Given the description of an element on the screen output the (x, y) to click on. 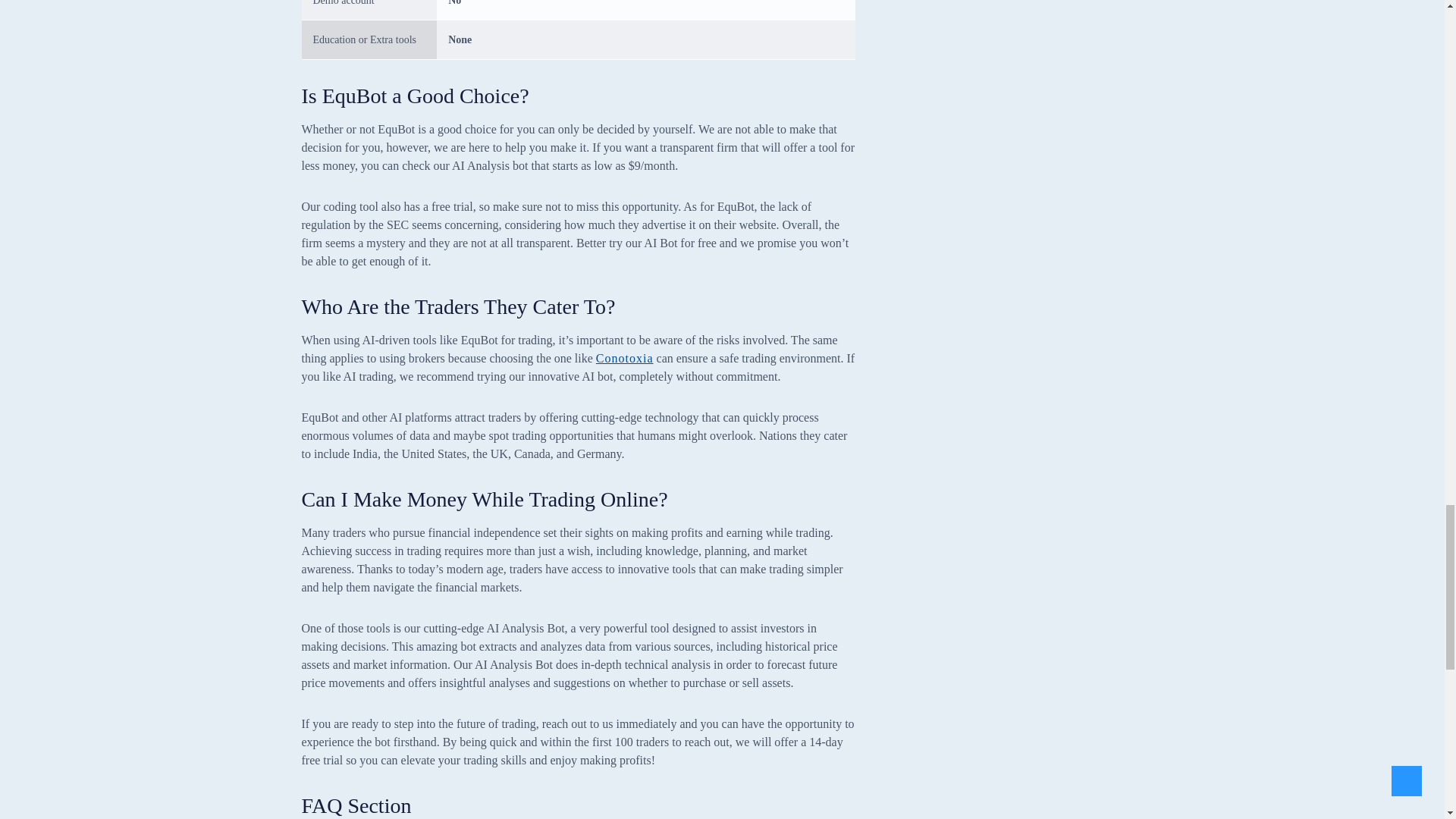
Conotoxia (624, 358)
